Given the description of an element on the screen output the (x, y) to click on. 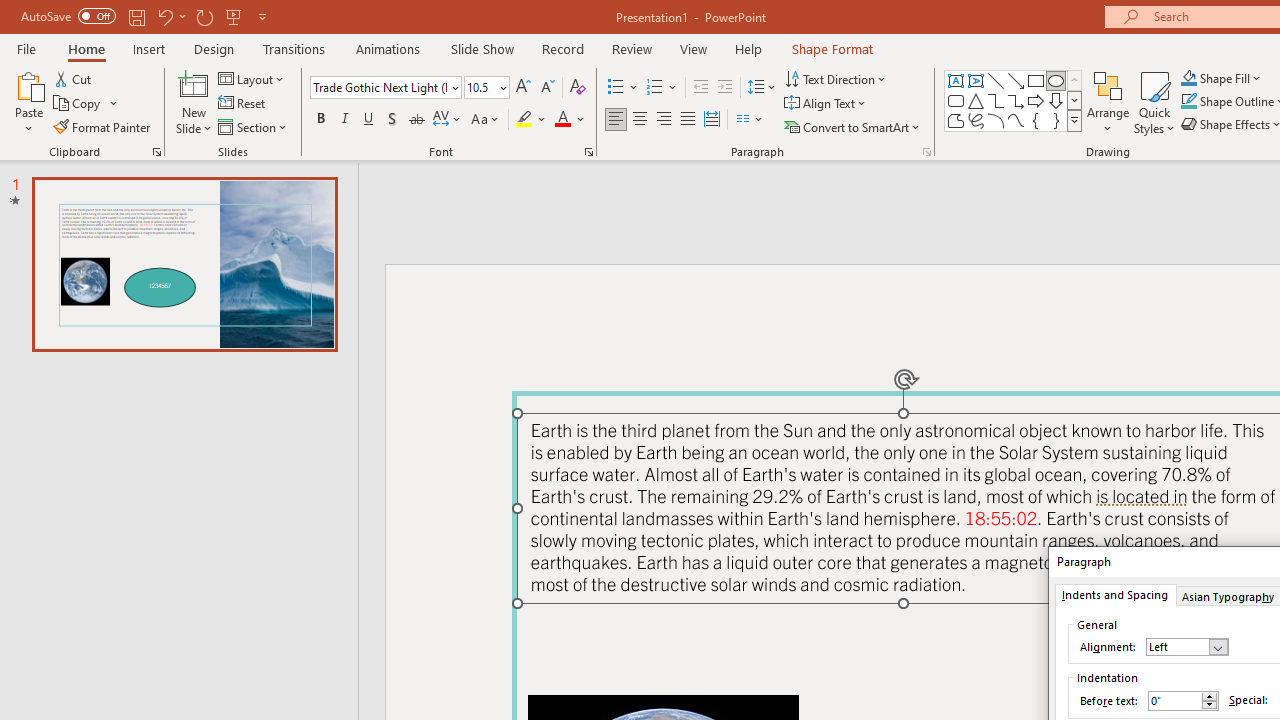
Shape Fill Aqua, Accent 2 (1188, 78)
